Given the description of an element on the screen output the (x, y) to click on. 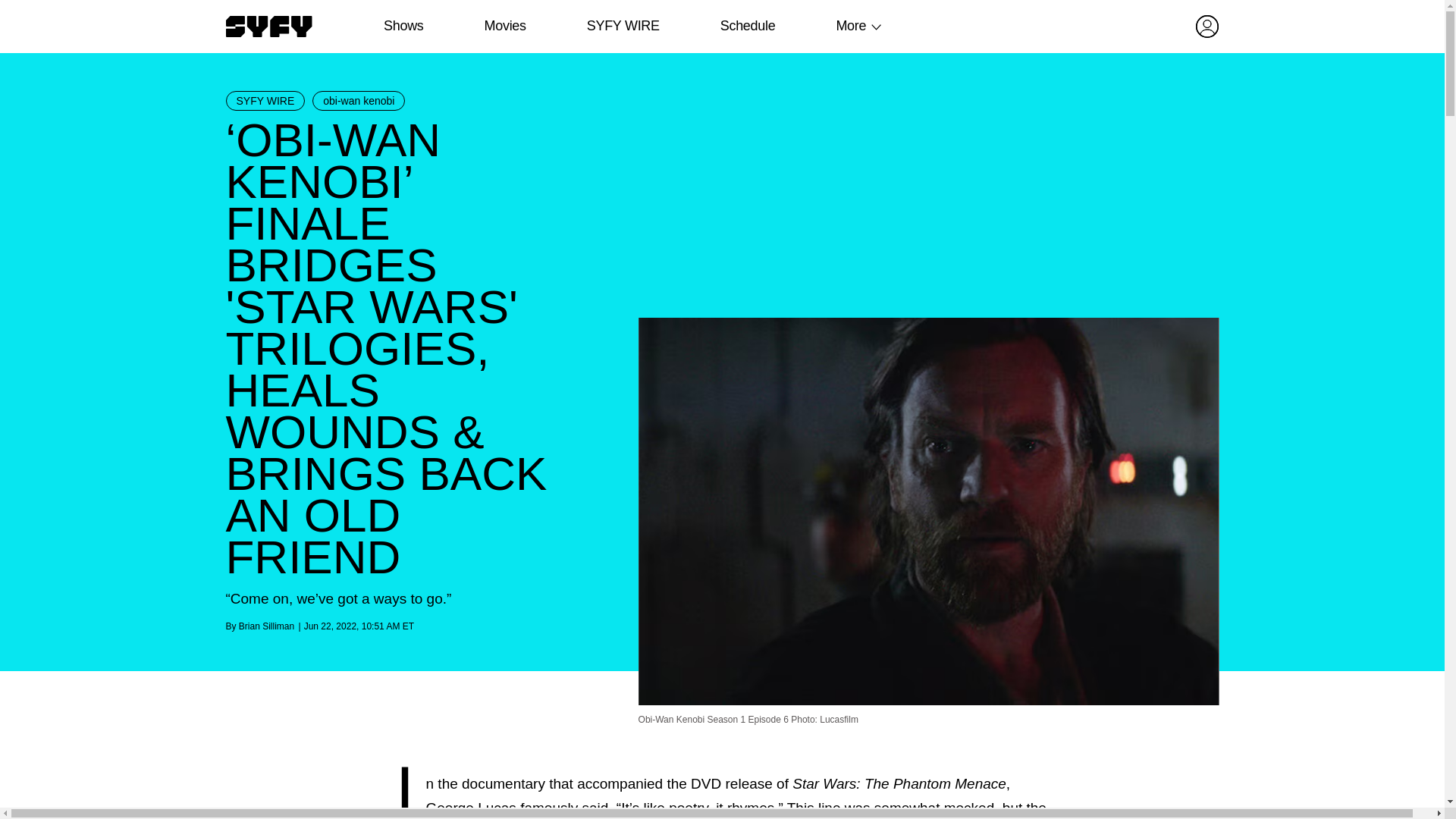
Schedule (746, 26)
obi-wan kenobi (358, 100)
Shows (403, 26)
Movies (504, 26)
SYFY WIRE (265, 100)
More (850, 26)
SYFY WIRE (622, 26)
Brian Silliman (266, 625)
